Given the description of an element on the screen output the (x, y) to click on. 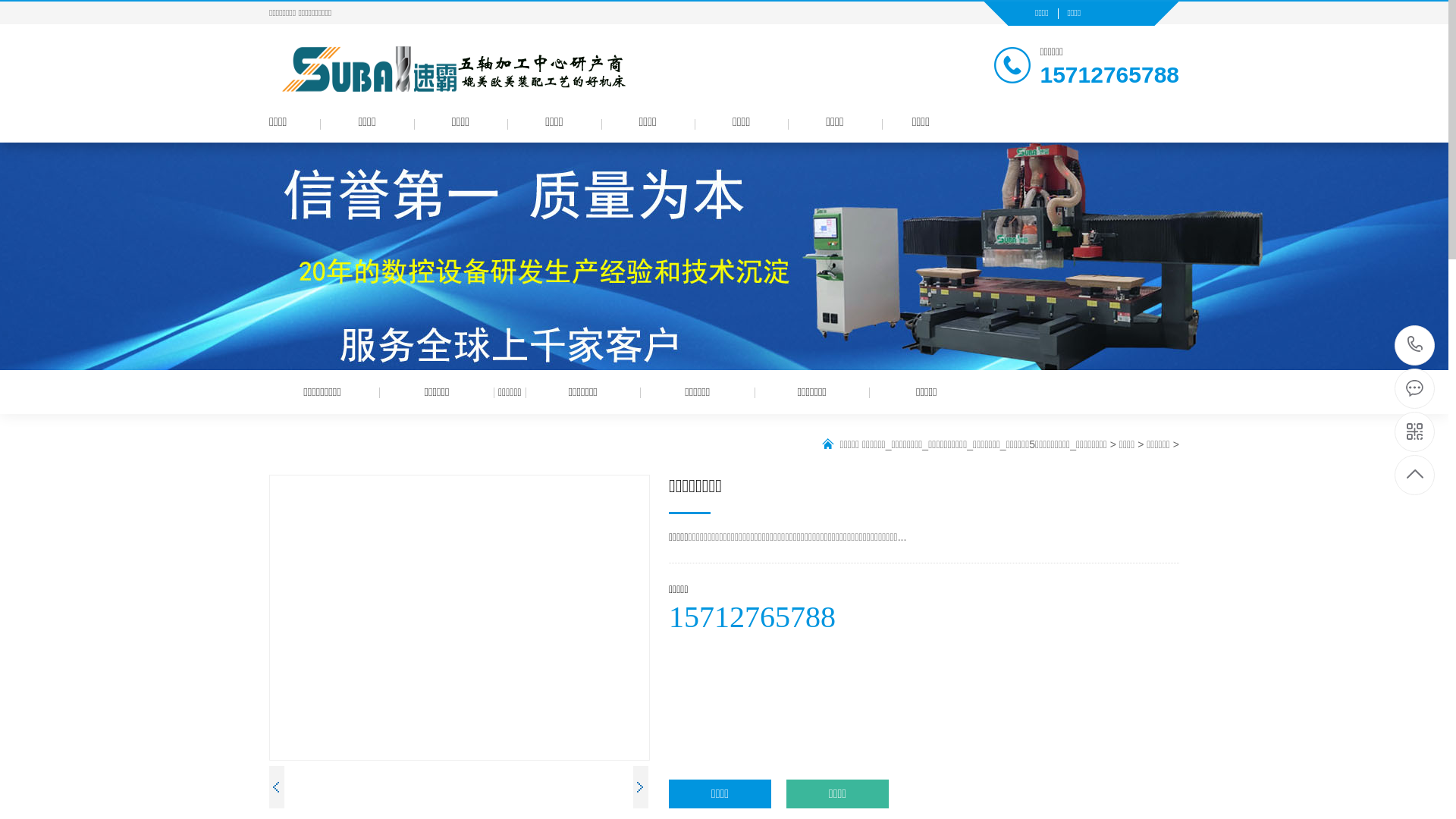
15712765788 Element type: text (1415, 345)
